Given the description of an element on the screen output the (x, y) to click on. 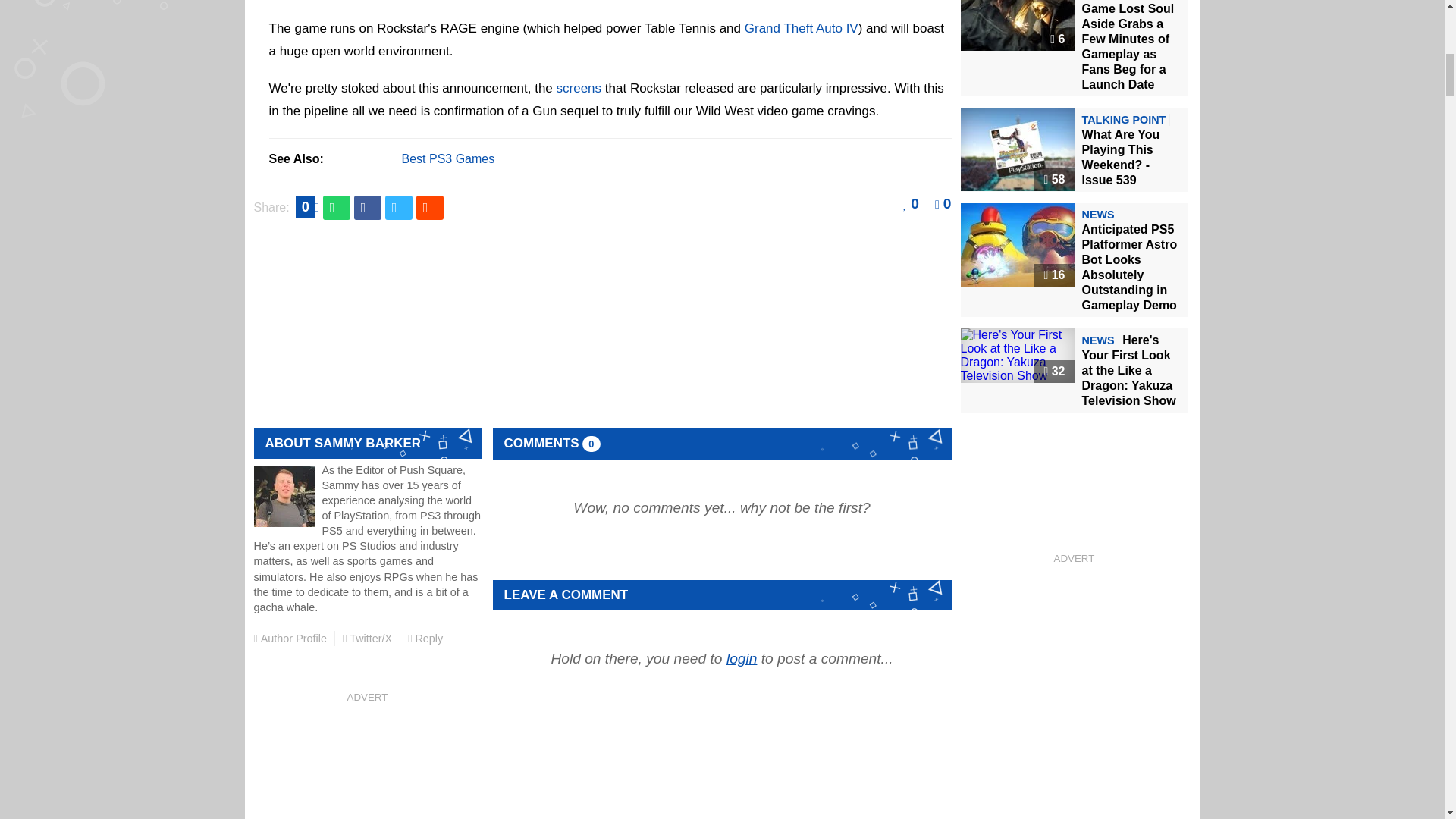
Share this on Facebook (367, 207)
Share this on WhatsApp (336, 207)
Share this on Twitter (398, 207)
